Given the description of an element on the screen output the (x, y) to click on. 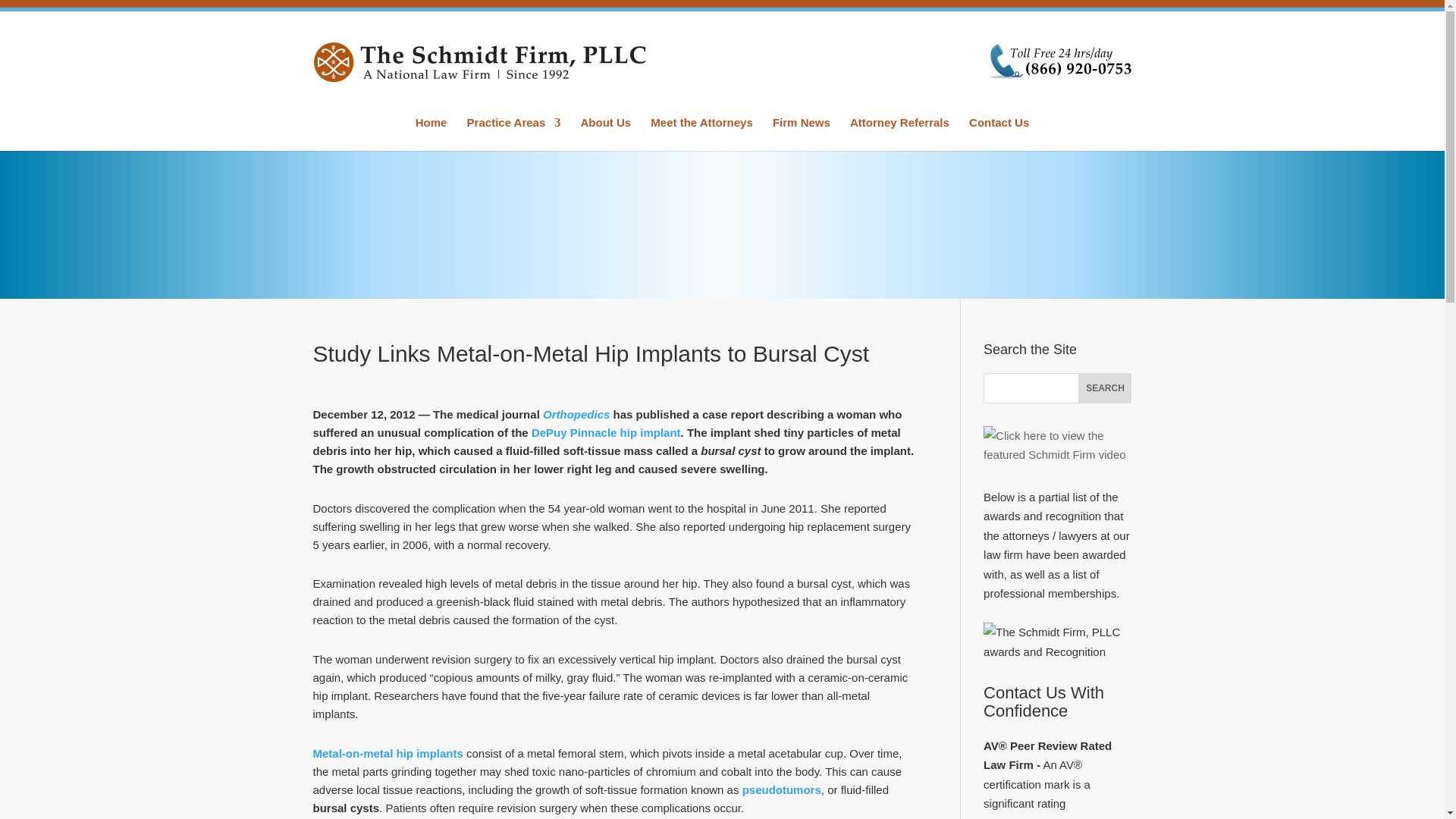
About Us (604, 133)
DePuy Pinnacle hip implant (606, 431)
DePuy Pinnacle Hip Implant Lawsuit (606, 431)
Contact Us (999, 133)
Attorney Referrals (899, 133)
Orthopedics (576, 413)
Search (1104, 388)
What is a Hip Implant Pseudotumor? (781, 789)
Metal-on-metal hip implants (388, 753)
pseudotumors (781, 789)
